Given the description of an element on the screen output the (x, y) to click on. 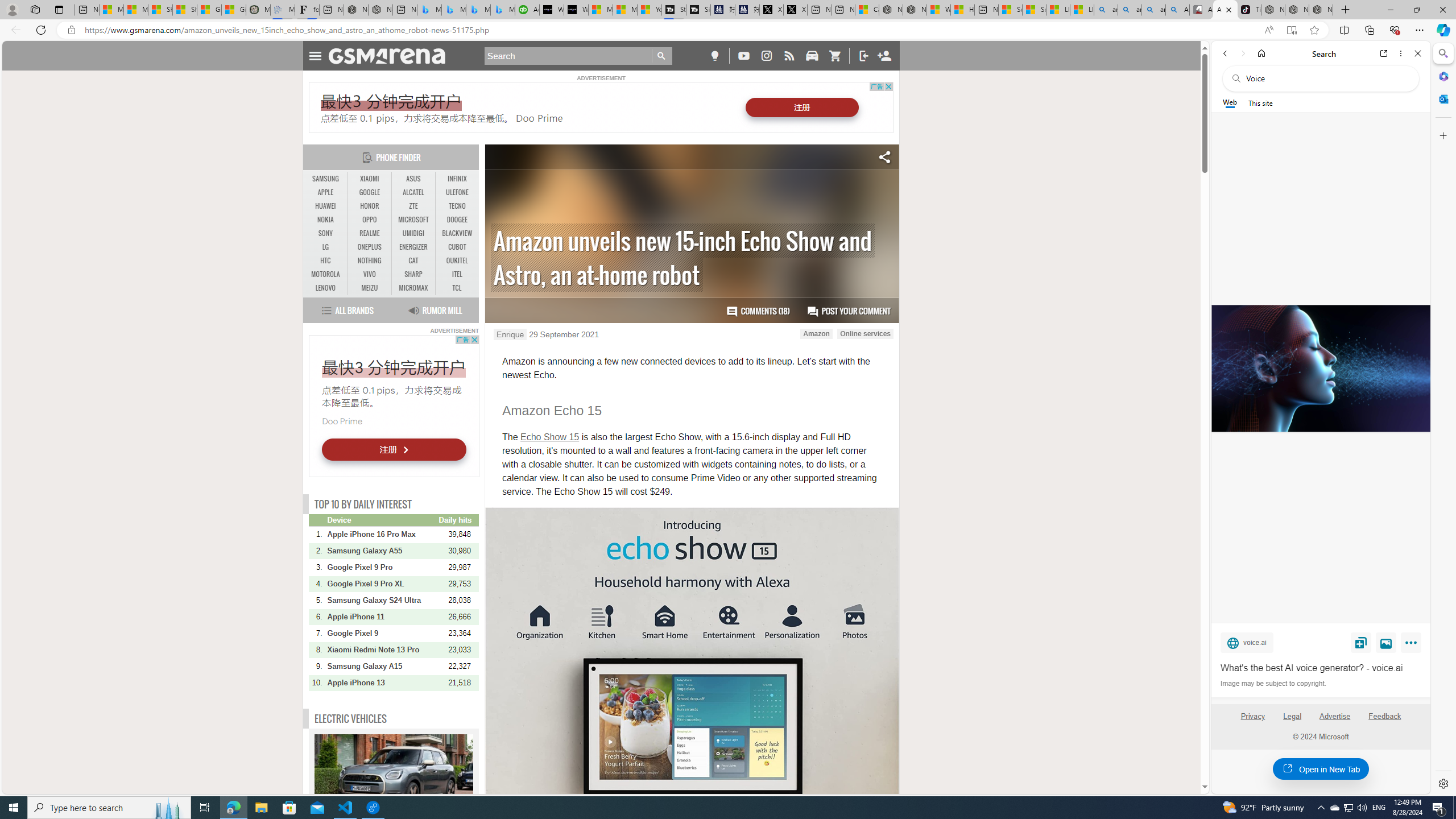
SHARP (413, 273)
Home (1261, 53)
HONOR (369, 206)
Gilma and Hector both pose tropical trouble for Hawaii (233, 9)
OUKITEL (457, 260)
LENOVO (325, 287)
amazon - Search (1129, 9)
HTC (325, 260)
INFINIX (457, 178)
ALCATEL (413, 192)
